Given the description of an element on the screen output the (x, y) to click on. 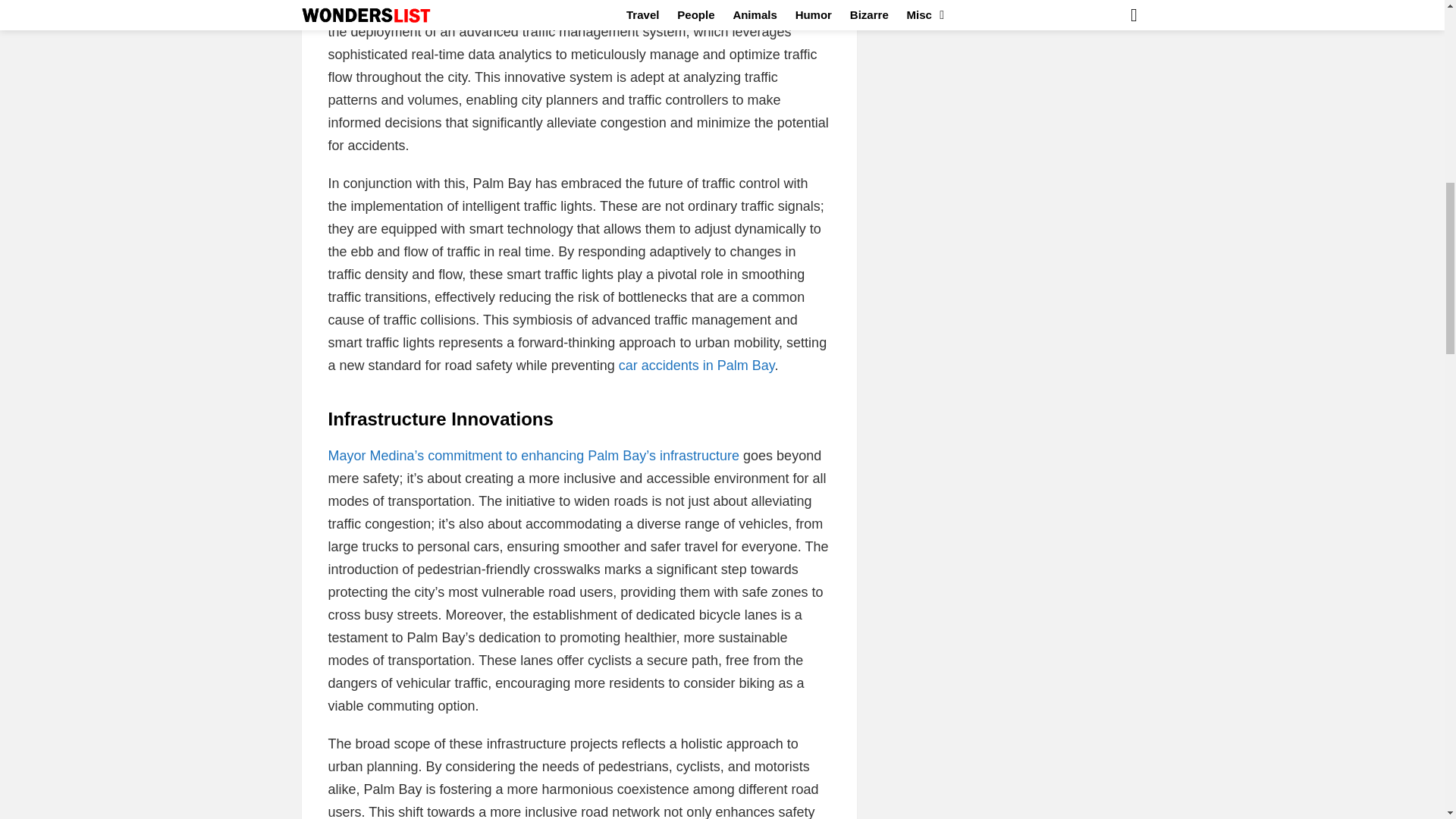
car accidents in Palm Bay (696, 365)
